Given the description of an element on the screen output the (x, y) to click on. 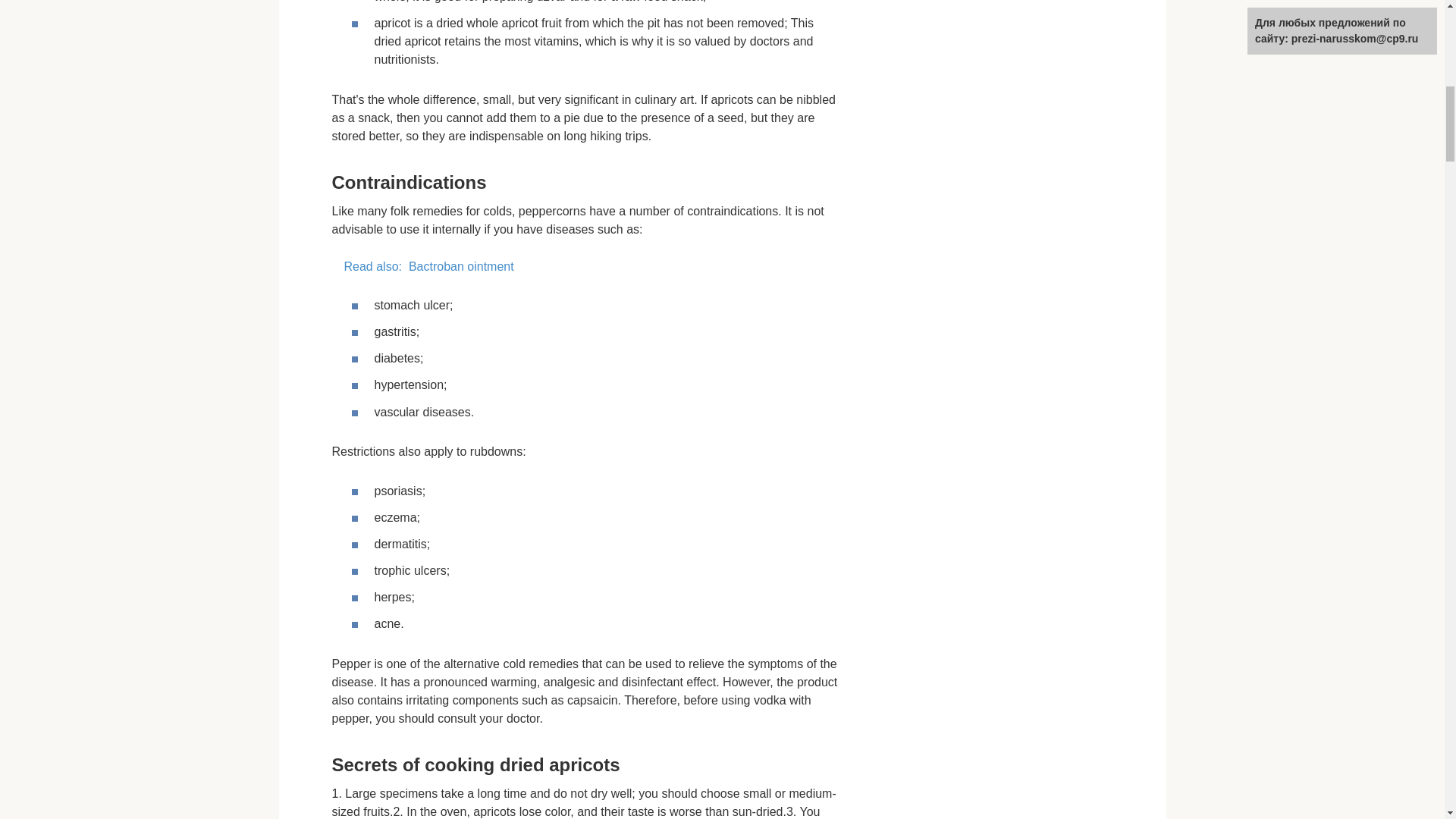
Read also:  Bactroban ointment (585, 266)
